Given the description of an element on the screen output the (x, y) to click on. 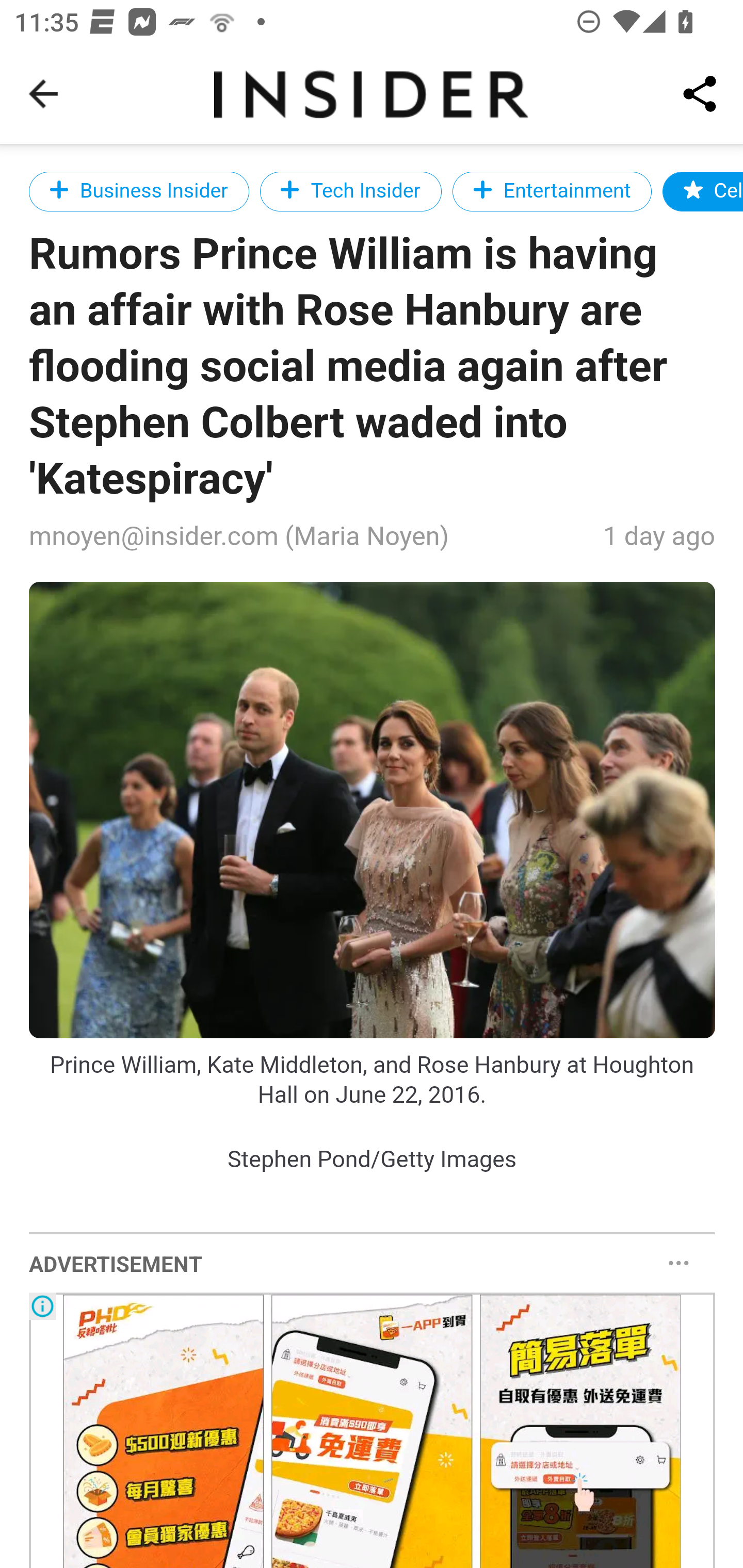
Business Insider (138, 191)
Tech Insider (349, 191)
Entertainment (552, 191)
?url=https%3A%2F%2Fi.insider (372, 810)
